Given the description of an element on the screen output the (x, y) to click on. 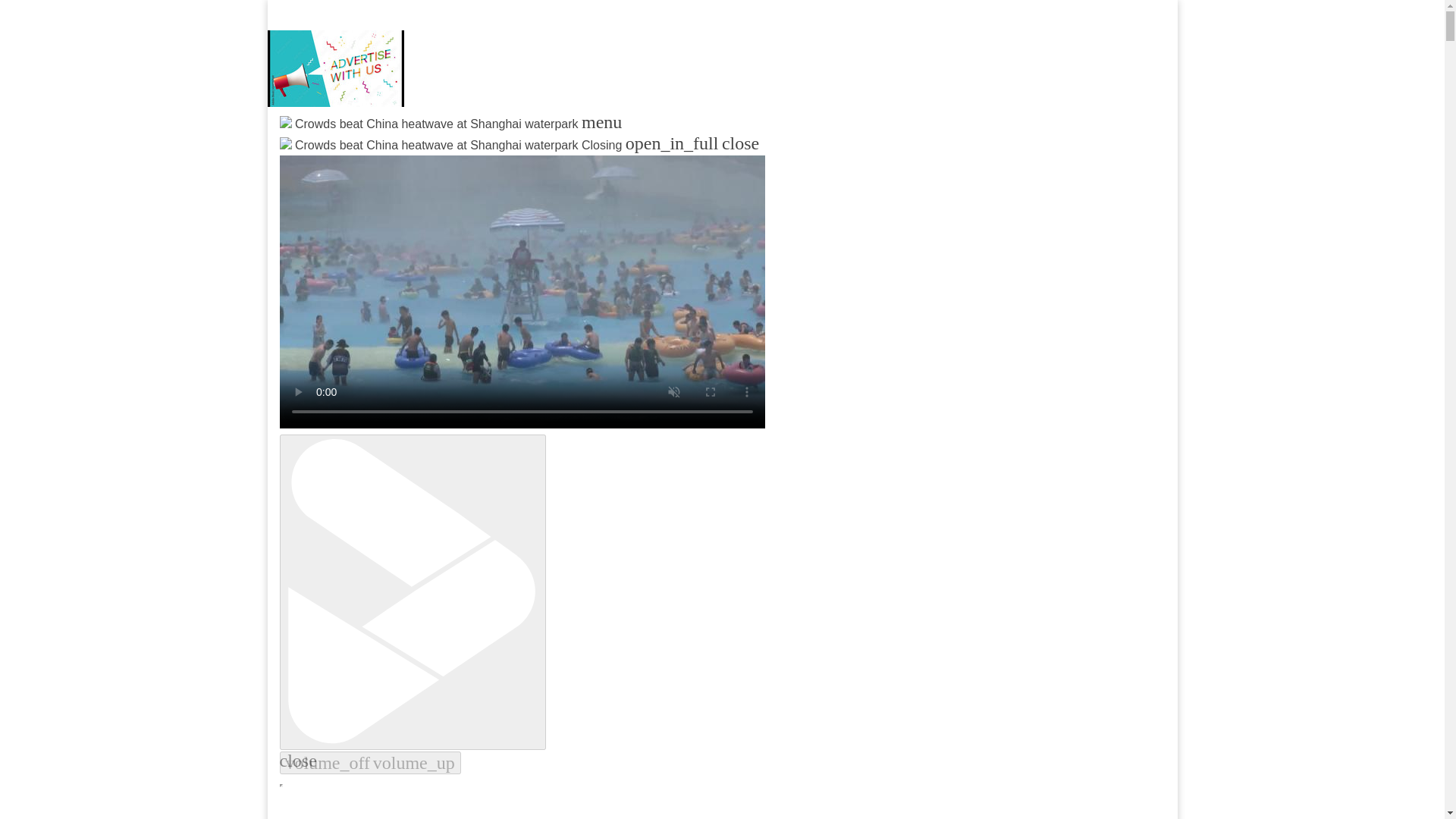
Skope Entertainment Inc (462, 160)
Skope Entertainment Inc (462, 160)
